Given the description of an element on the screen output the (x, y) to click on. 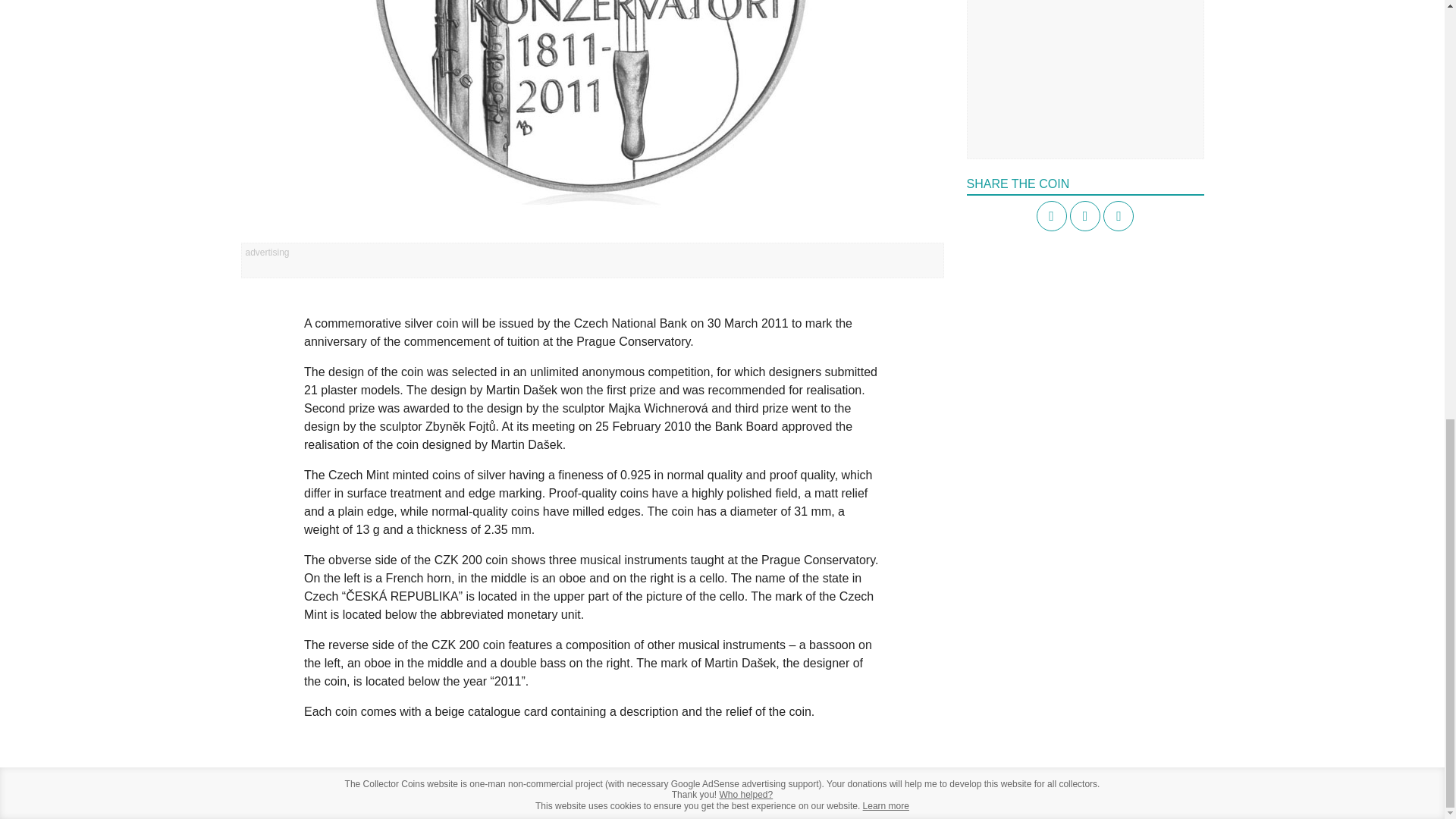
Advertisement (1084, 69)
Learn more (885, 805)
Who helped? (746, 794)
